Given the description of an element on the screen output the (x, y) to click on. 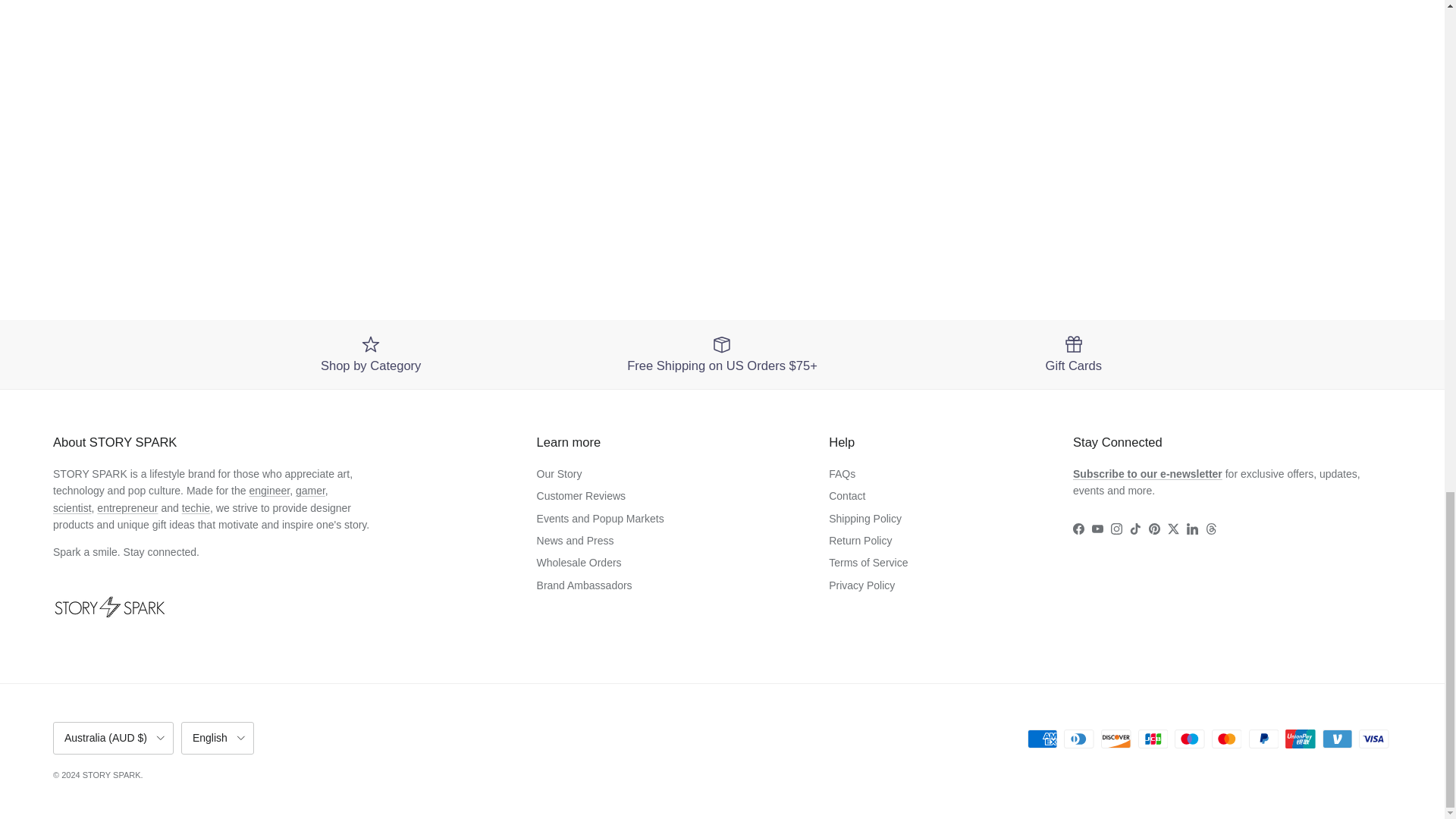
Engineering and Science (268, 490)
For Gamers (309, 490)
STORY SPARK on LinkedIn (1192, 528)
STORY SPARK on Instagram (1116, 528)
STORY SPARK on Twitter (1173, 528)
STORY SPARK on YouTube (1097, 528)
STORY SPARK on Pinterest (1154, 528)
Engineering and Science (71, 508)
STORY SPARK on Facebook (1078, 528)
STORY SPARK on TikTok (1135, 528)
Entrepreneurship (127, 508)
